Given the description of an element on the screen output the (x, y) to click on. 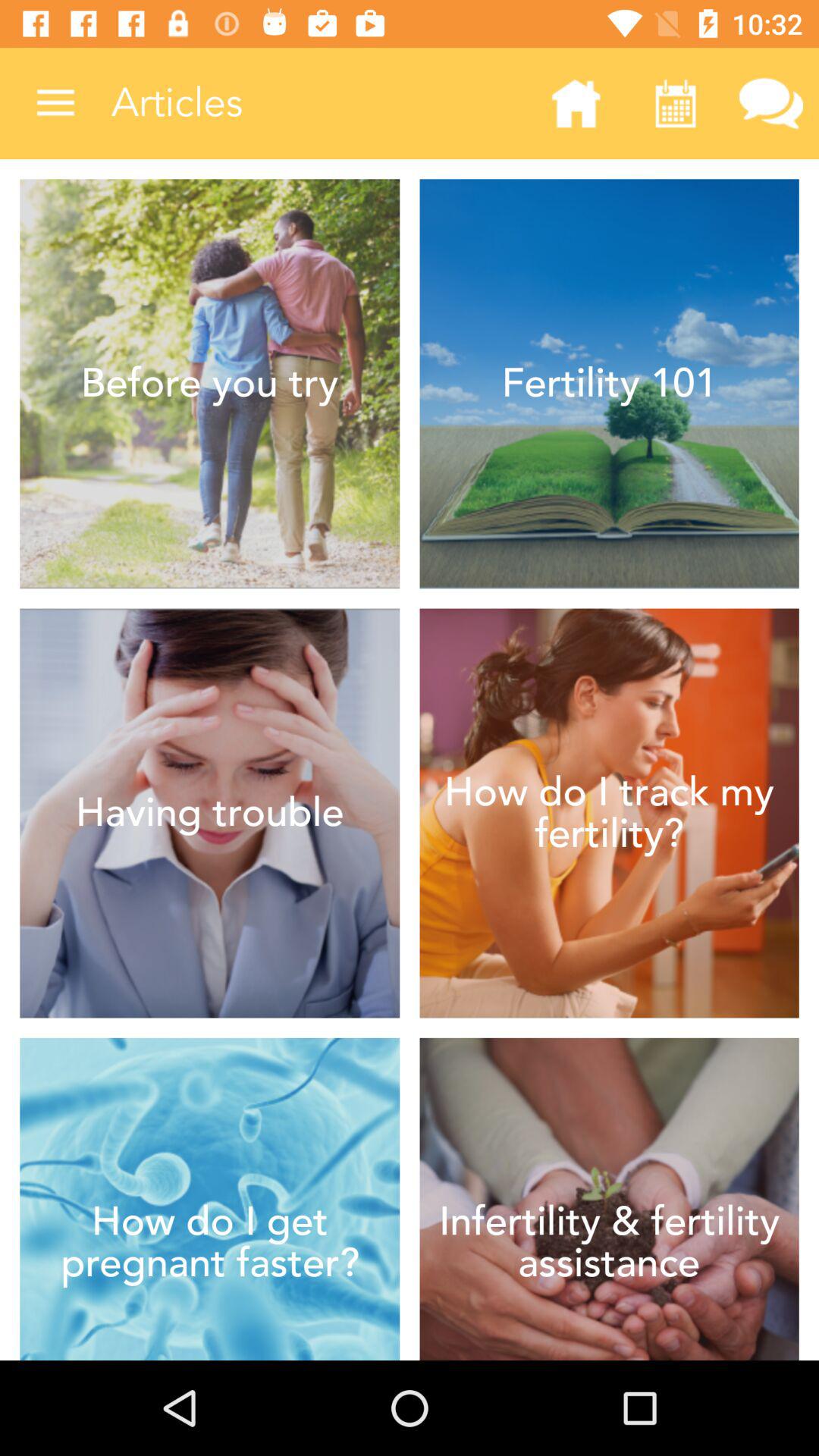
tap the item to the left of articles icon (55, 103)
